Given the description of an element on the screen output the (x, y) to click on. 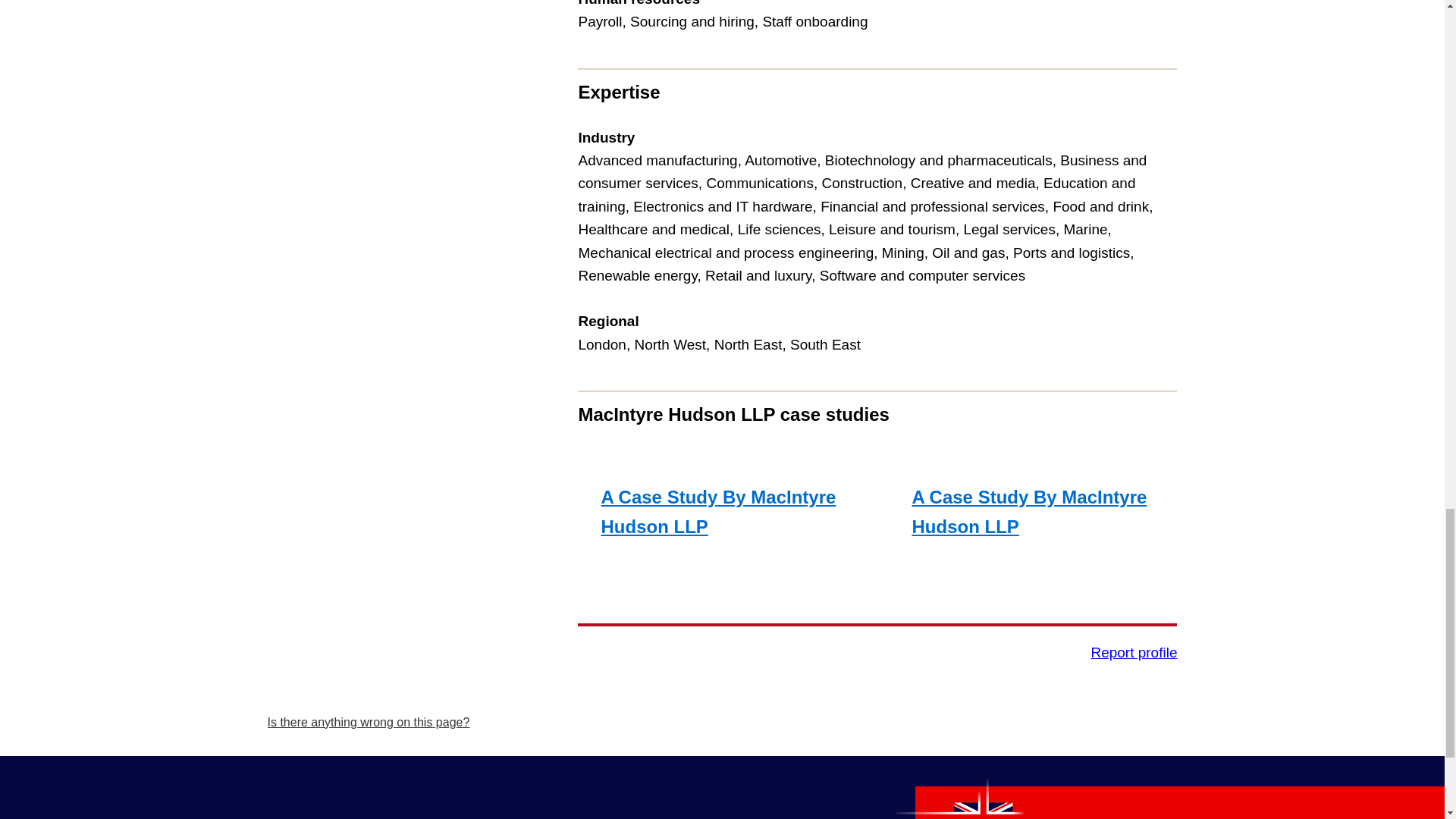
Report profile (1133, 652)
A Case Study By MacIntyre Hudson LLP (722, 494)
A Case Study By MacIntyre Hudson LLP (1032, 494)
Is there anything wrong on this page? (367, 721)
